Given the description of an element on the screen output the (x, y) to click on. 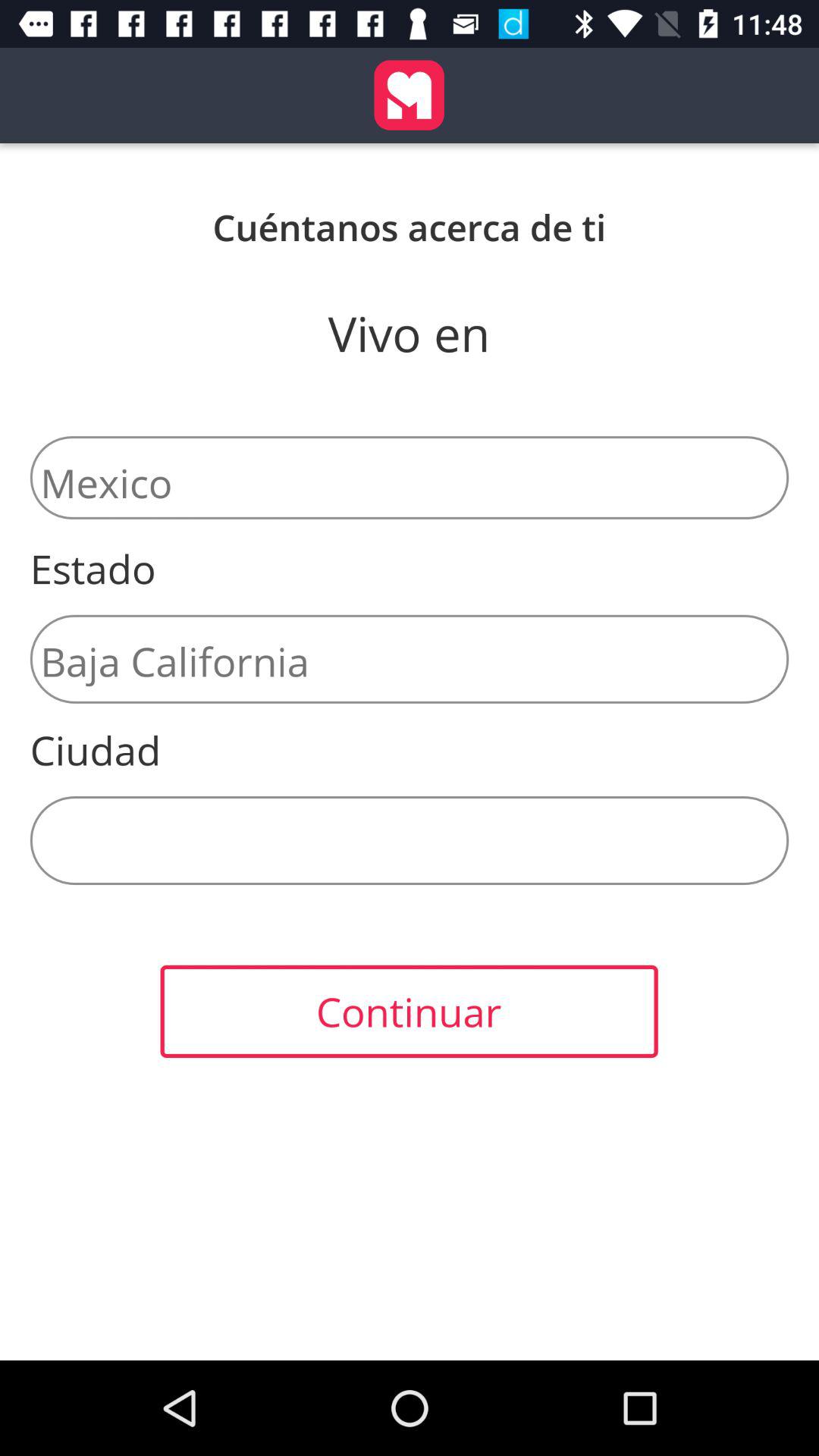
turn off the item below the ciudad icon (409, 840)
